Given the description of an element on the screen output the (x, y) to click on. 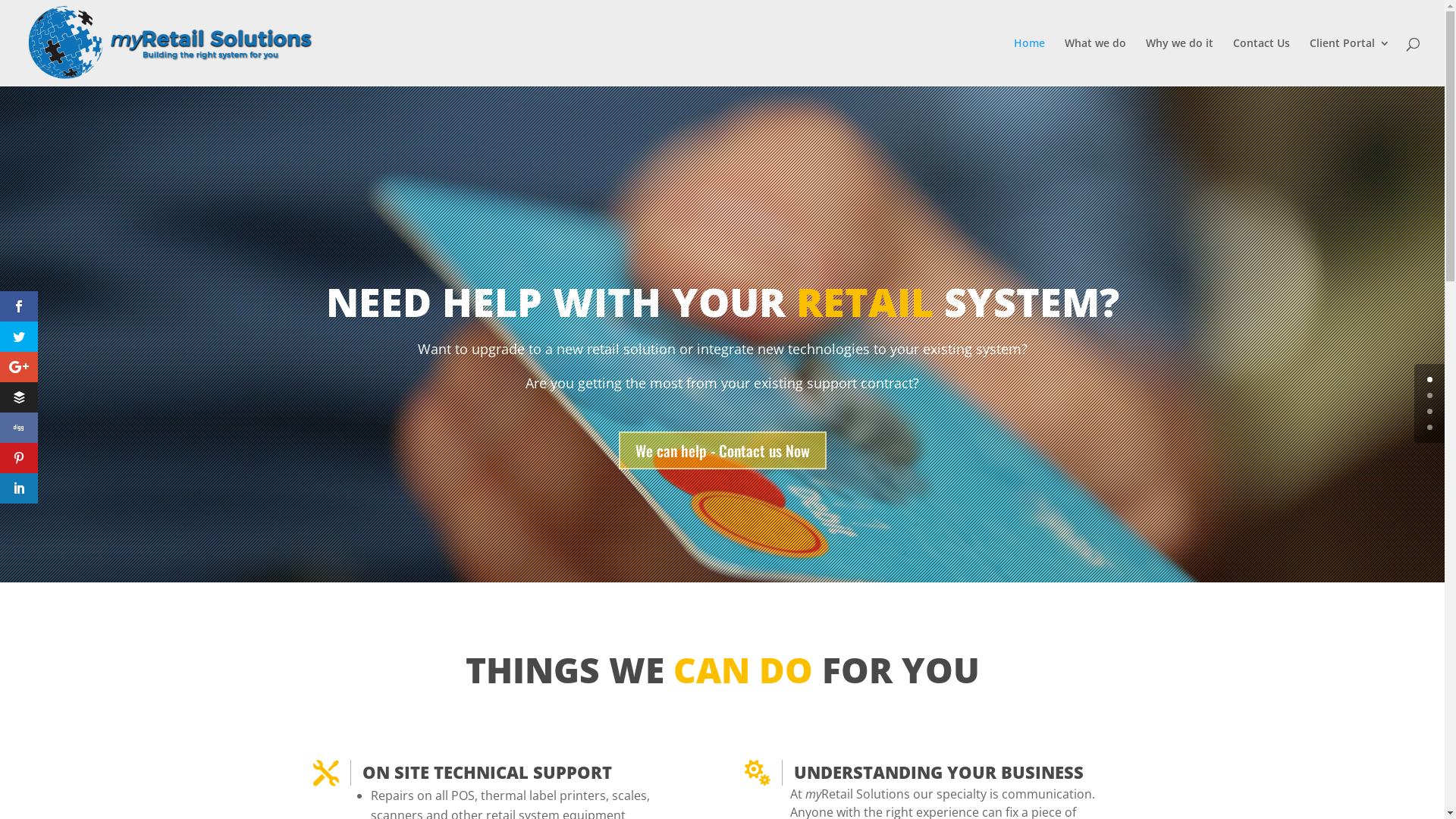
Contact Us Element type: text (1261, 61)
0 Element type: text (1429, 379)
Why we do it Element type: text (1179, 61)
What we do Element type: text (1095, 61)
We can help - Contact us Now Element type: text (722, 449)
2 Element type: text (1429, 411)
3 Element type: text (1429, 426)
1 Element type: text (1429, 395)
Home Element type: text (1028, 61)
Client Portal Element type: text (1349, 61)
